Given the description of an element on the screen output the (x, y) to click on. 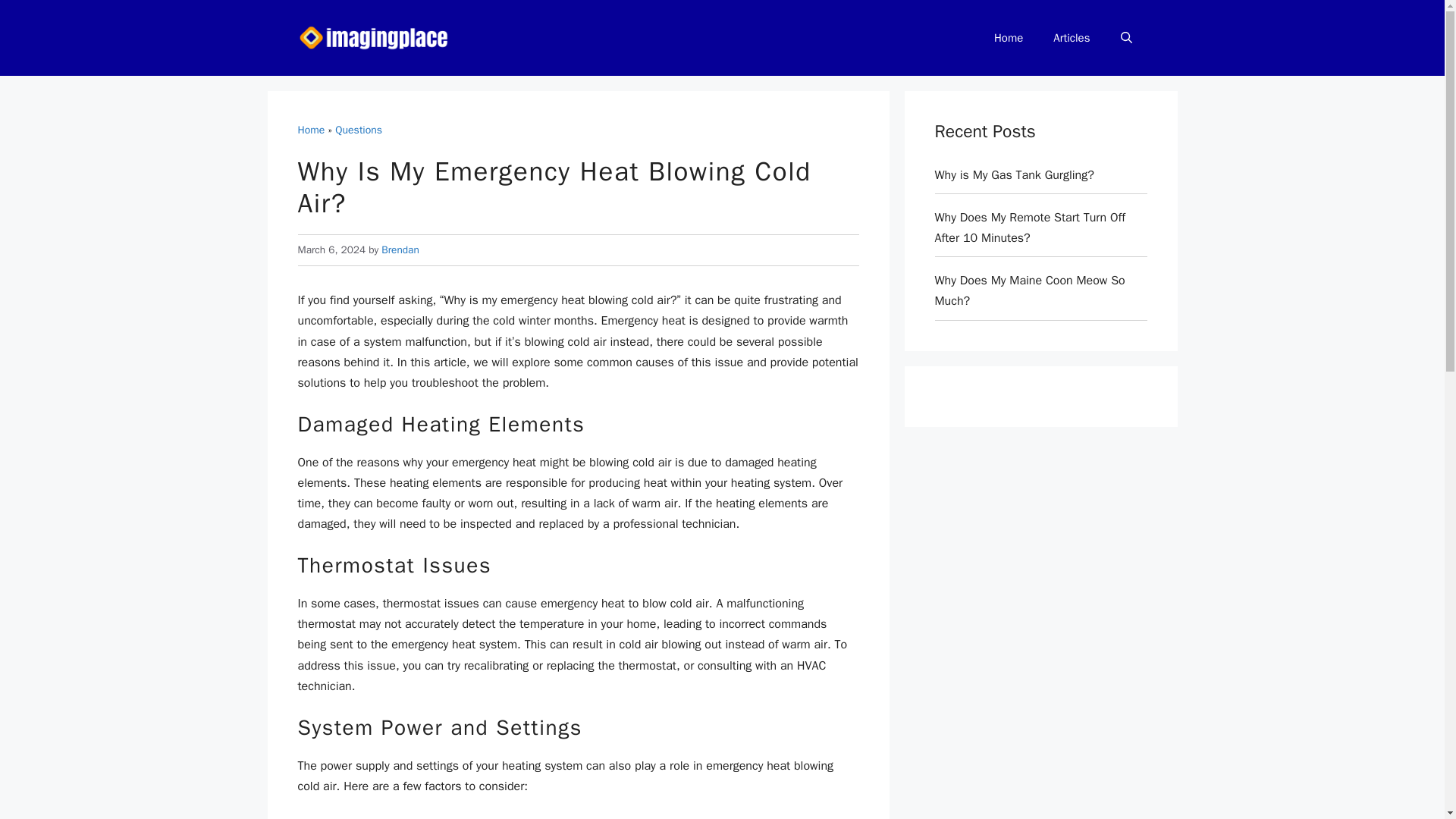
Brendan (400, 249)
Why Does My Maine Coon Meow So Much? (1029, 290)
Why Does My Remote Start Turn Off After 10 Minutes? (1029, 227)
Home (1008, 37)
View all posts by Brendan (400, 249)
Home (310, 129)
Why is My Gas Tank Gurgling? (1013, 174)
Articles (1071, 37)
Questions (357, 129)
